Given the description of an element on the screen output the (x, y) to click on. 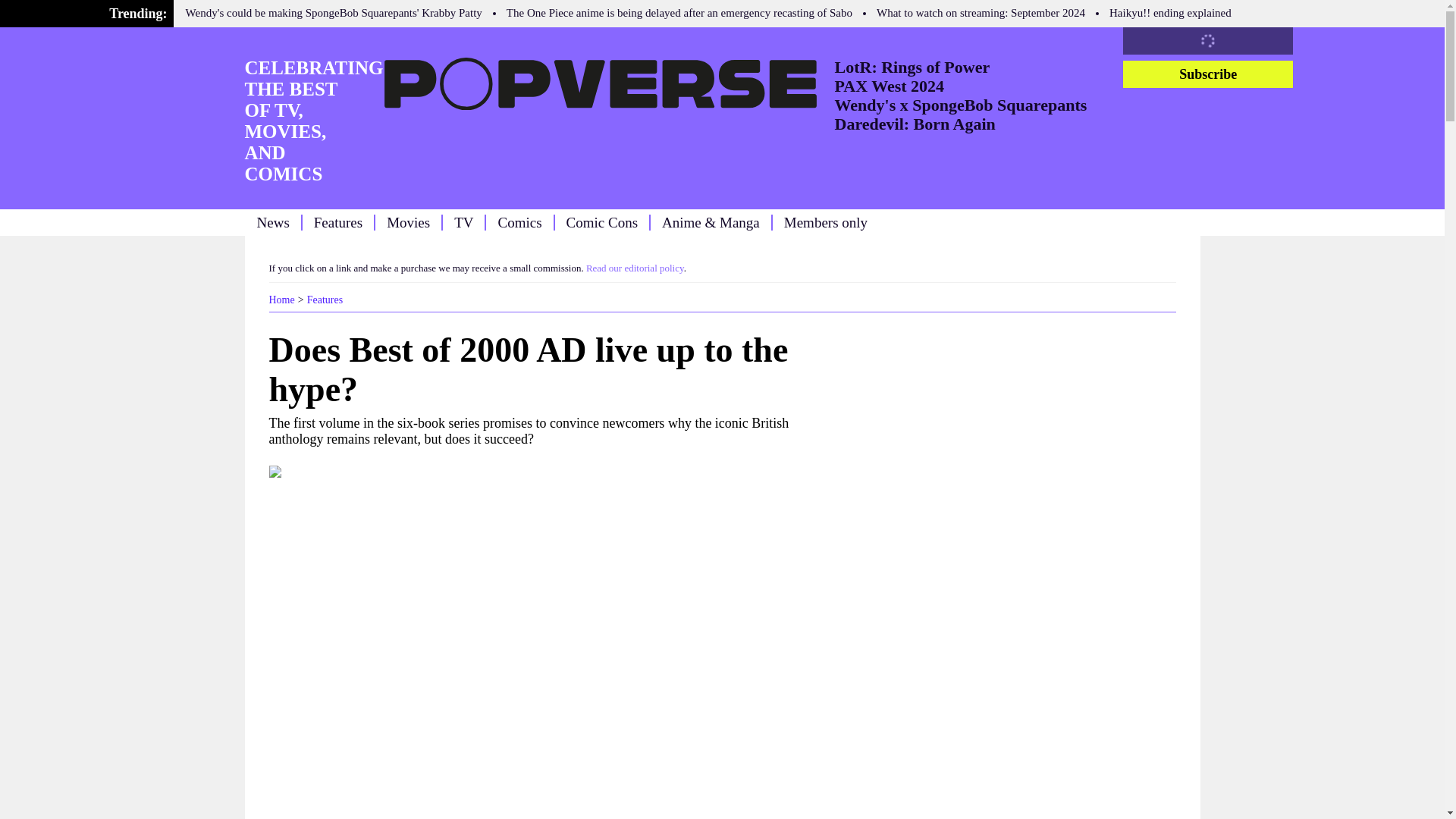
Members only (825, 222)
Home (280, 299)
Features (324, 299)
Wendy's x SpongeBob Squarepants (960, 104)
Haikyu!! ending explained (1170, 12)
Wendy's x SpongeBob Squarepants (960, 104)
Comic Cons (601, 222)
Comics (519, 222)
TV (463, 222)
